Given the description of an element on the screen output the (x, y) to click on. 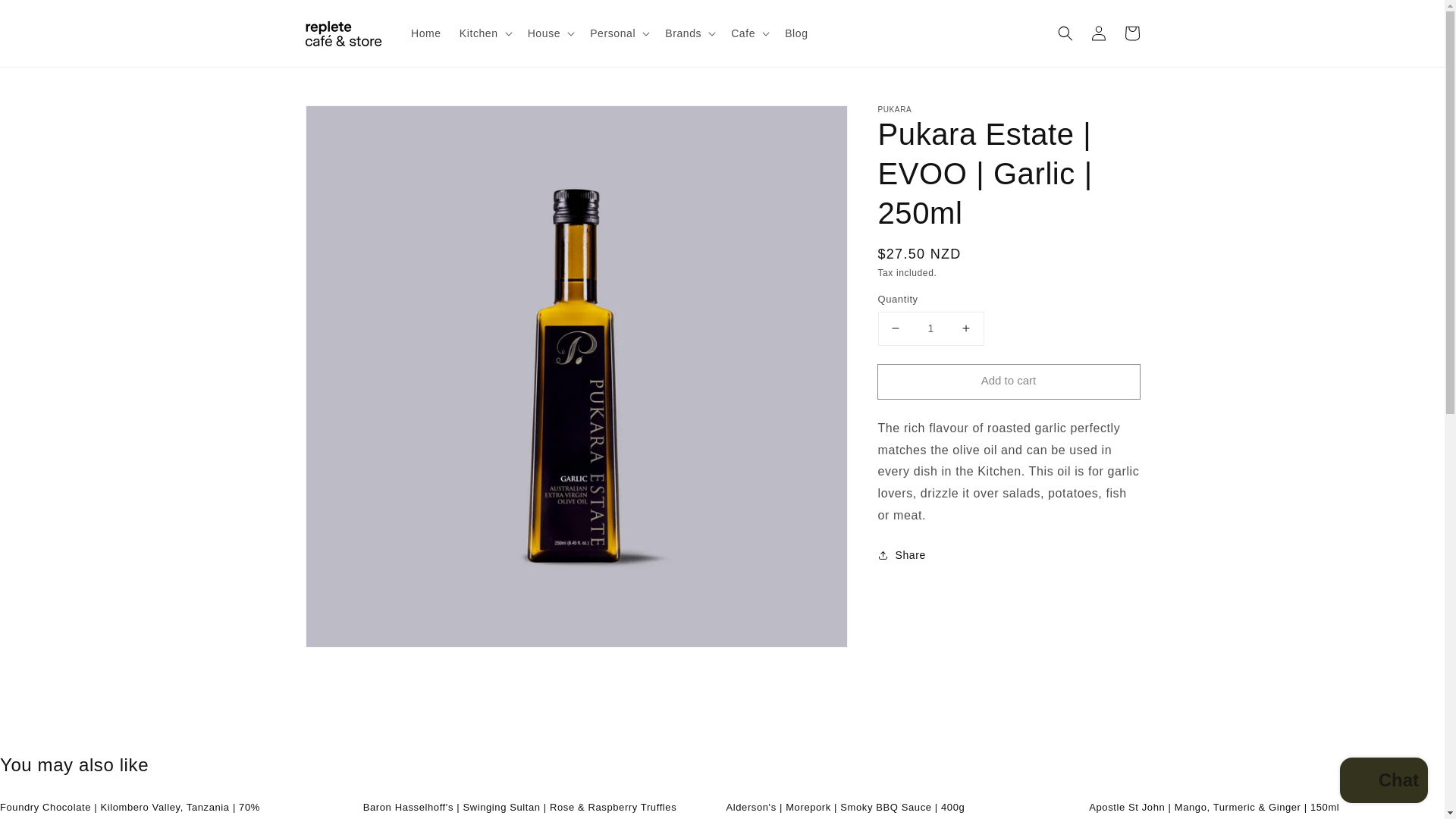
Shopify online store chat (1383, 781)
Skip to content (45, 16)
1 (930, 328)
